Given the description of an element on the screen output the (x, y) to click on. 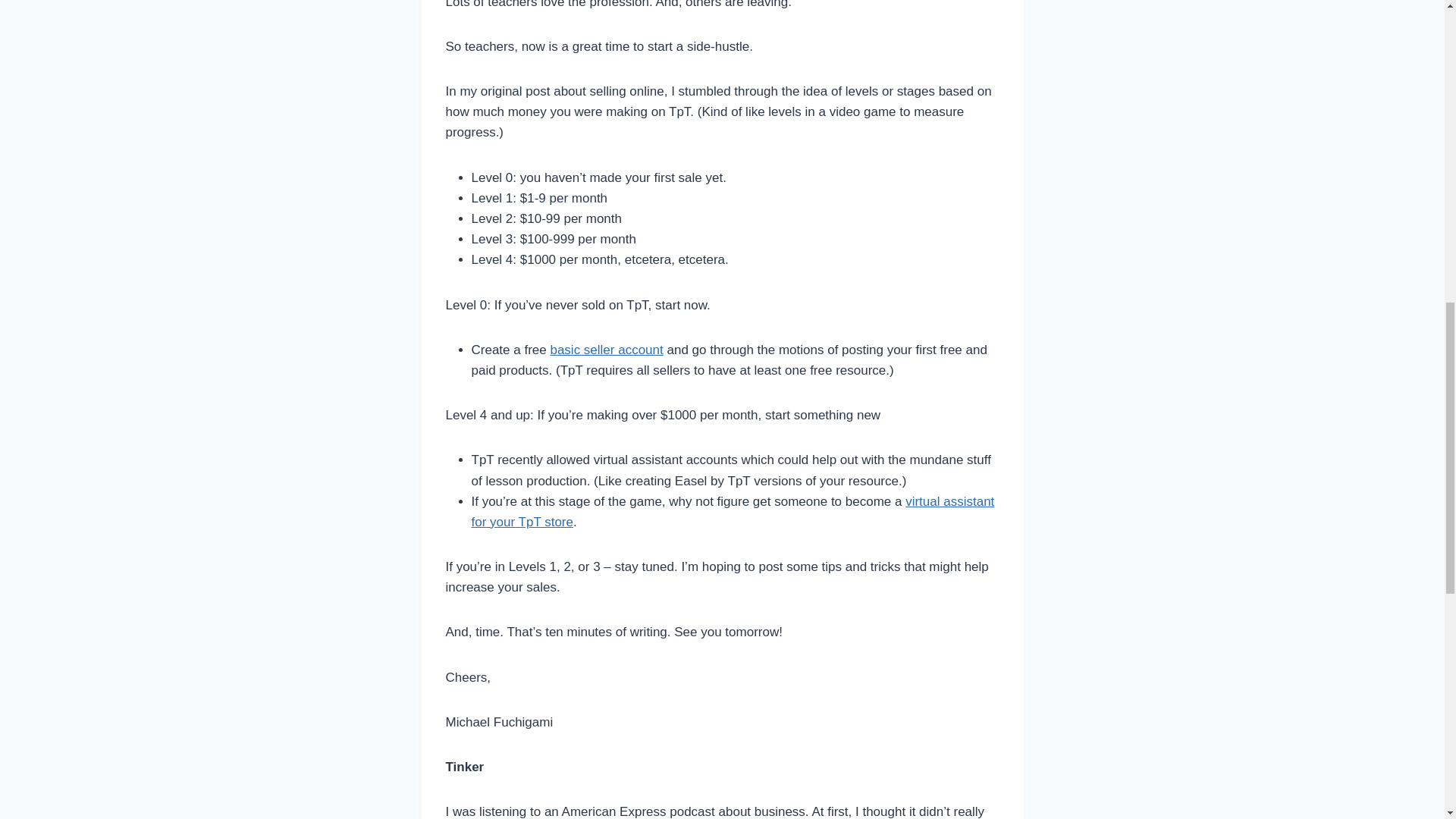
virtual assistant for your TpT store (732, 511)
basic seller account (606, 350)
